Given the description of an element on the screen output the (x, y) to click on. 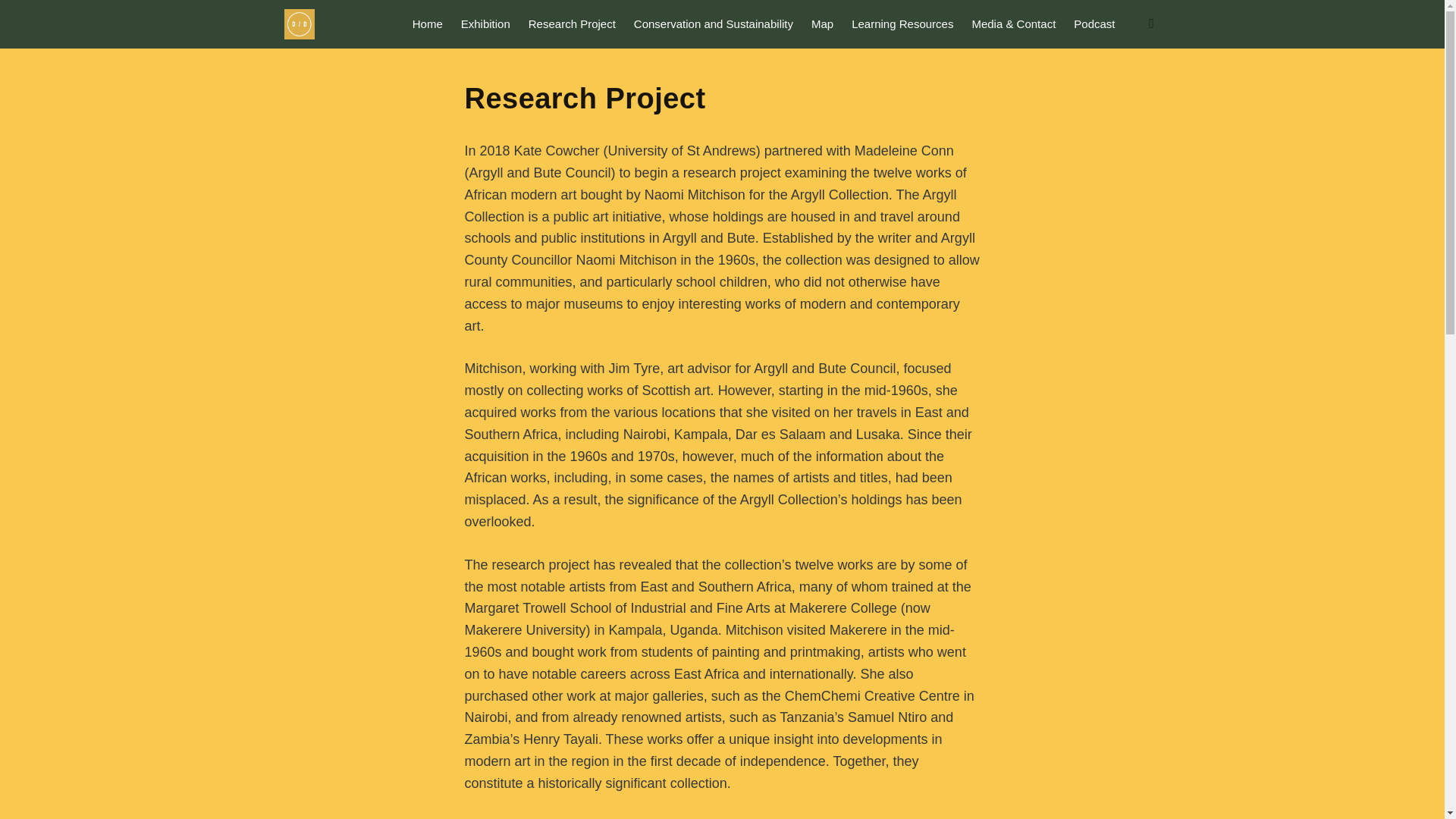
Exhibition (485, 24)
Learning Resources (902, 24)
Research Project (571, 24)
Podcast (1094, 24)
Home (427, 24)
Conservation and Sustainability (713, 24)
